Given the description of an element on the screen output the (x, y) to click on. 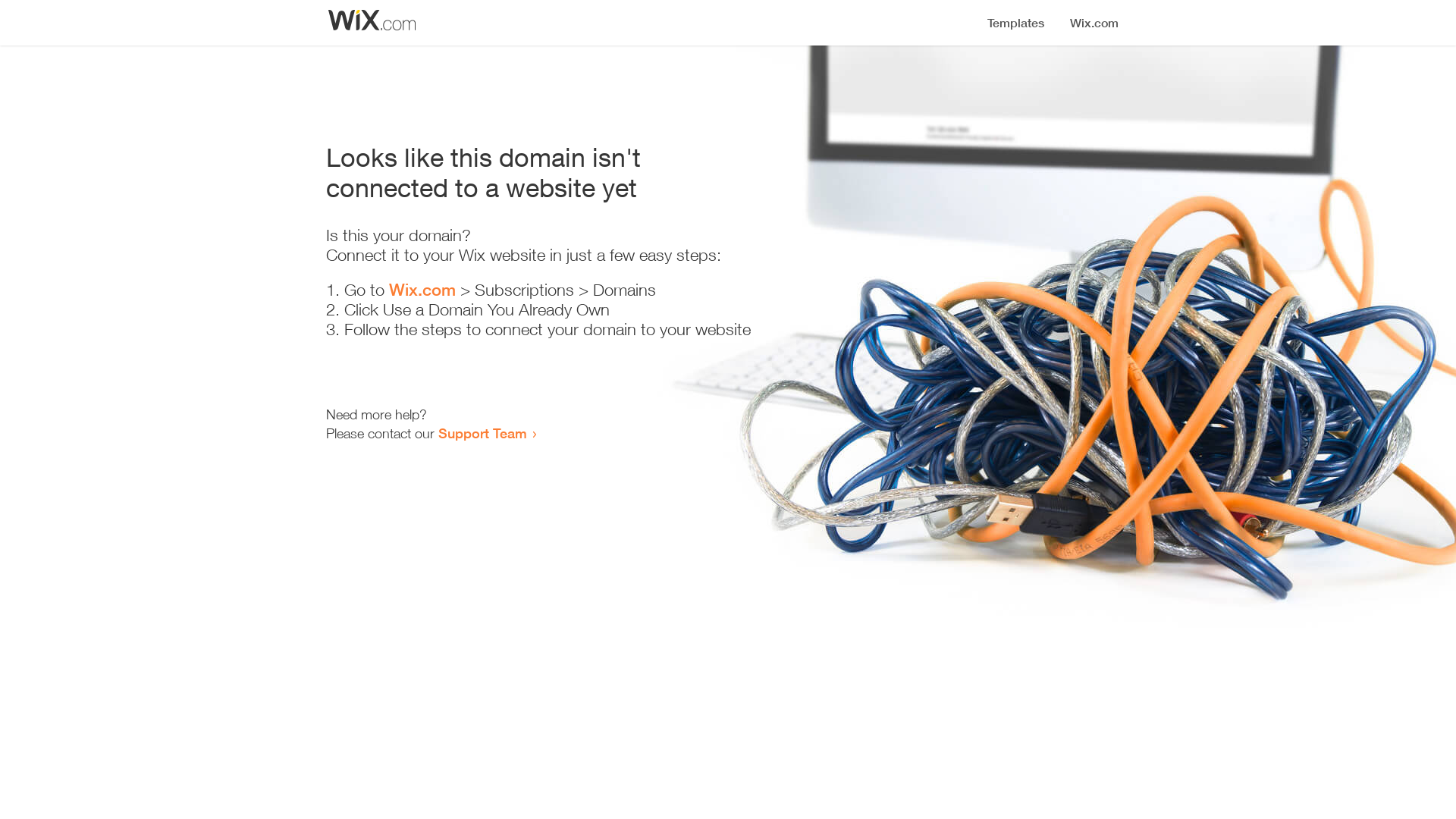
Support Team Element type: text (482, 432)
Wix.com Element type: text (422, 289)
